Given the description of an element on the screen output the (x, y) to click on. 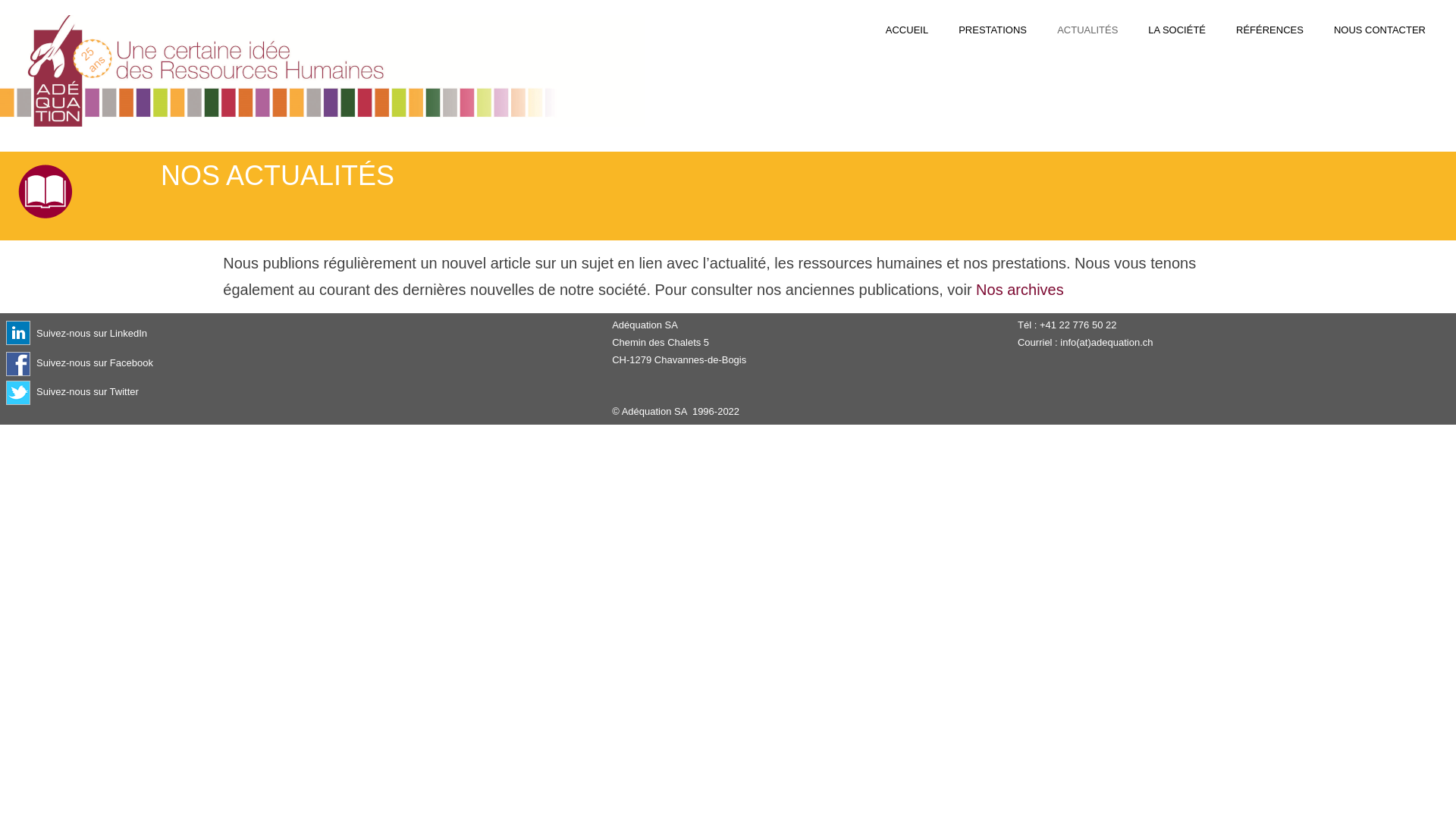
Nos archives Element type: text (1019, 289)
Suivez-nous sur LinkedIn Element type: text (91, 332)
Suivez-nous sur Twitter Element type: text (87, 392)
NOUS CONTACTER Element type: text (1379, 29)
PRESTATIONS Element type: text (992, 29)
ACCUEIL Element type: text (906, 29)
Suivez-nous sur Facebook Element type: text (94, 363)
